Given the description of an element on the screen output the (x, y) to click on. 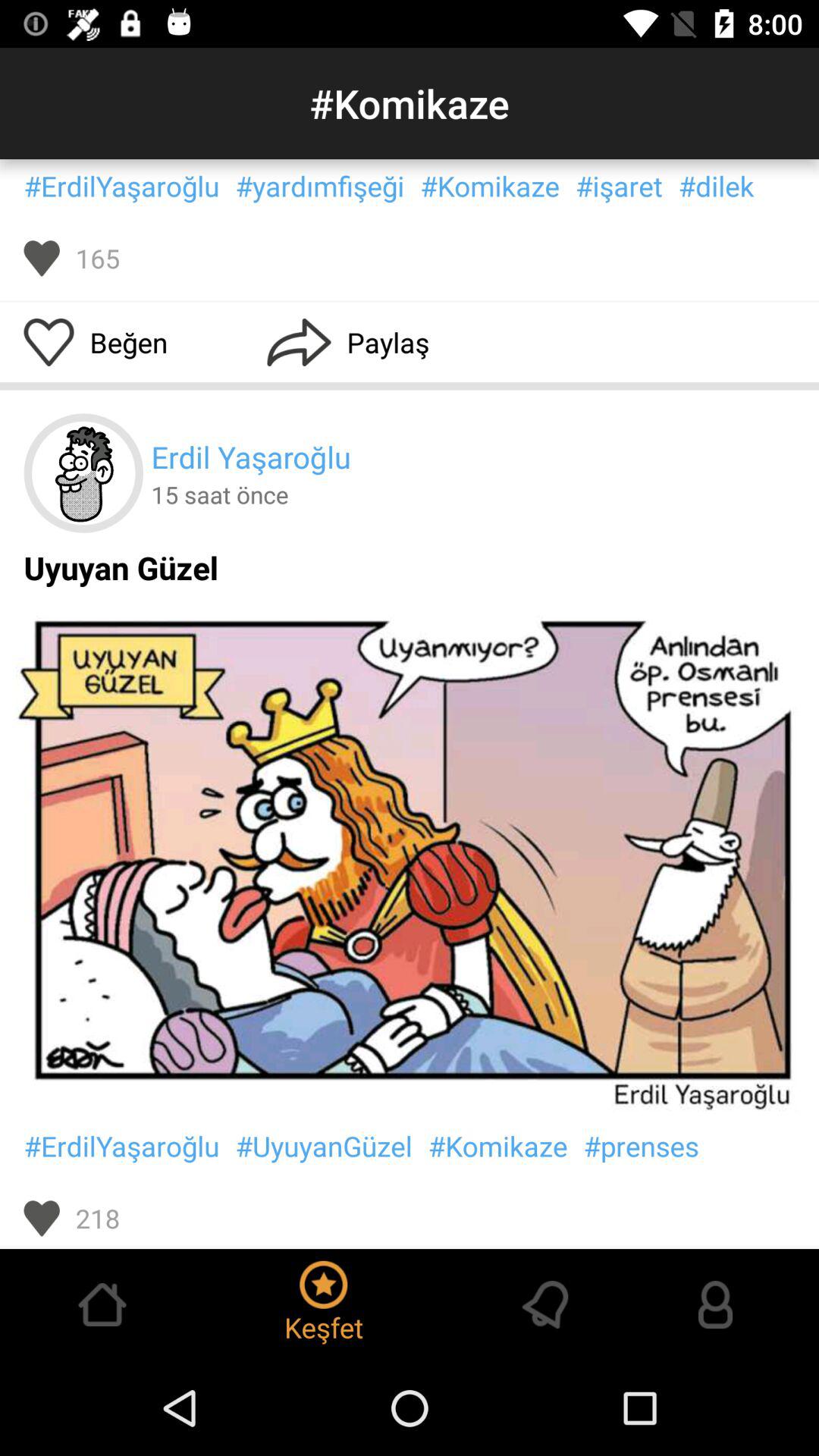
select the text left to dilek (619, 186)
select icon beside paylas (299, 342)
click on the heart beside 165 (41, 258)
click on the icon above uyuyan guzel (83, 473)
